Given the description of an element on the screen output the (x, y) to click on. 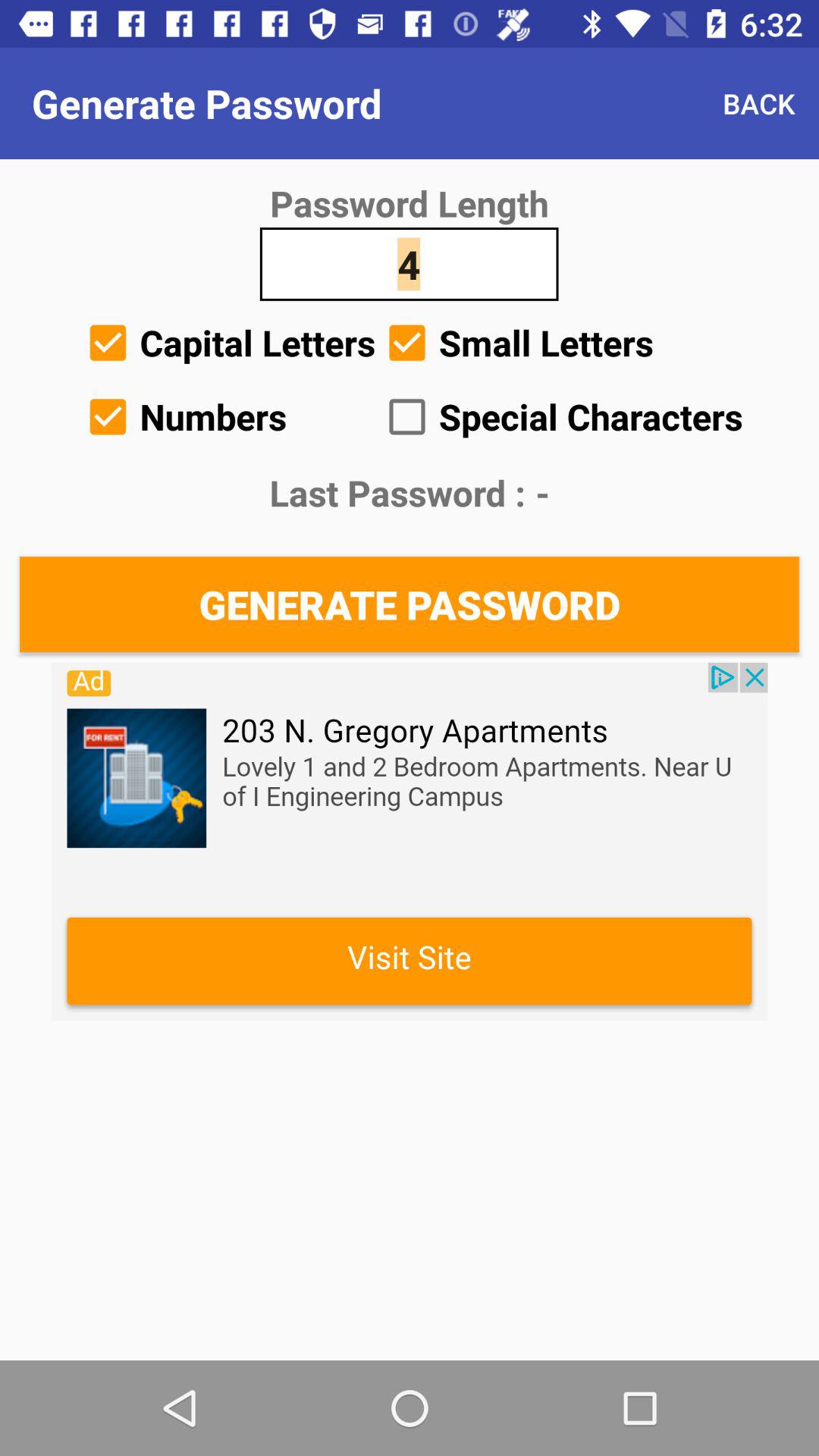
visit site (409, 841)
